Given the description of an element on the screen output the (x, y) to click on. 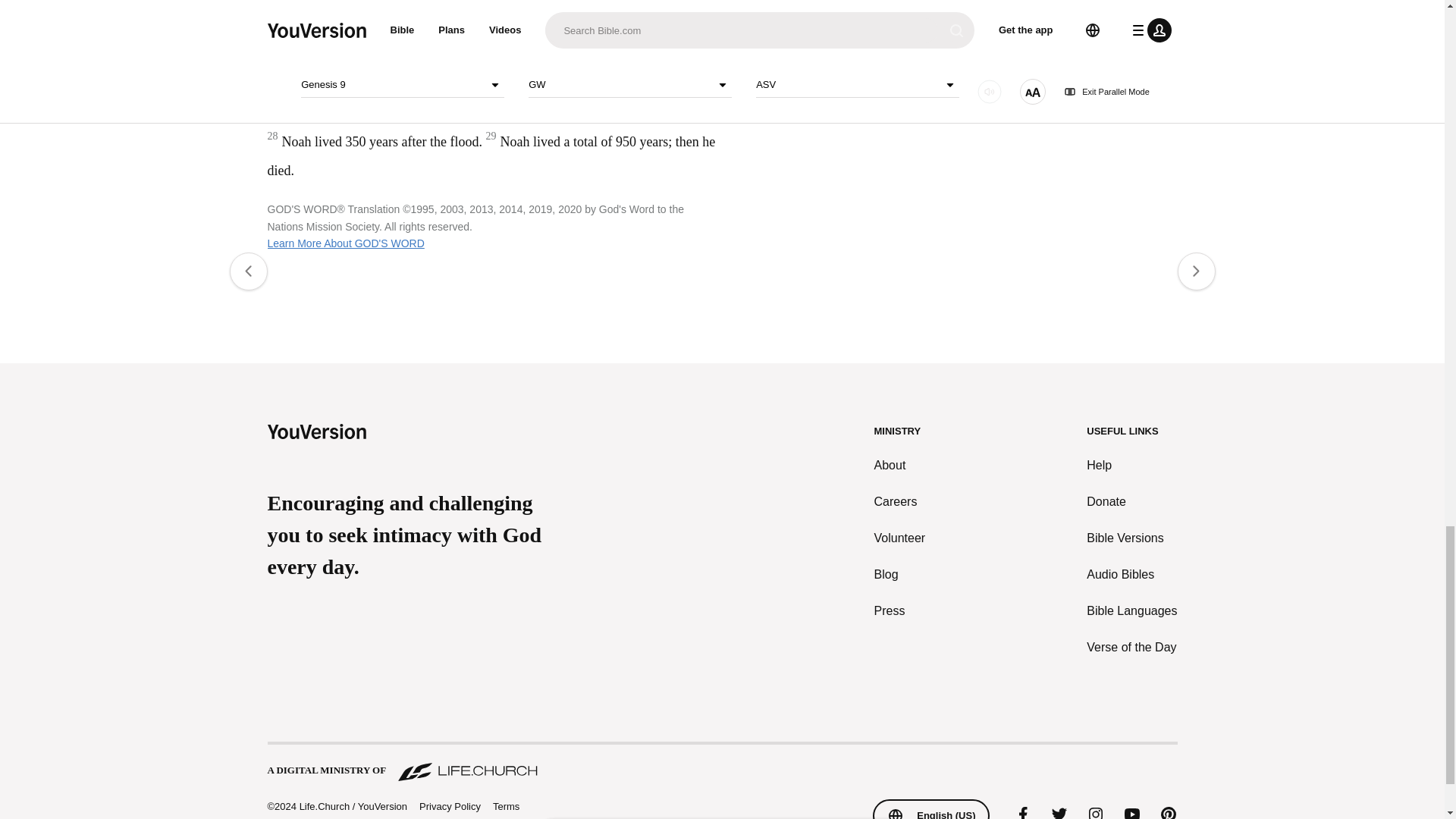
Donate (1131, 502)
Verse of the Day (1131, 647)
About (900, 465)
Audio Bibles (1131, 574)
Learn More About GOD'S WORD (344, 243)
Bible Versions (1131, 538)
Careers (900, 502)
Privacy Policy (449, 806)
Learn More About American Standard Version (835, 86)
Help (1131, 465)
